Given the description of an element on the screen output the (x, y) to click on. 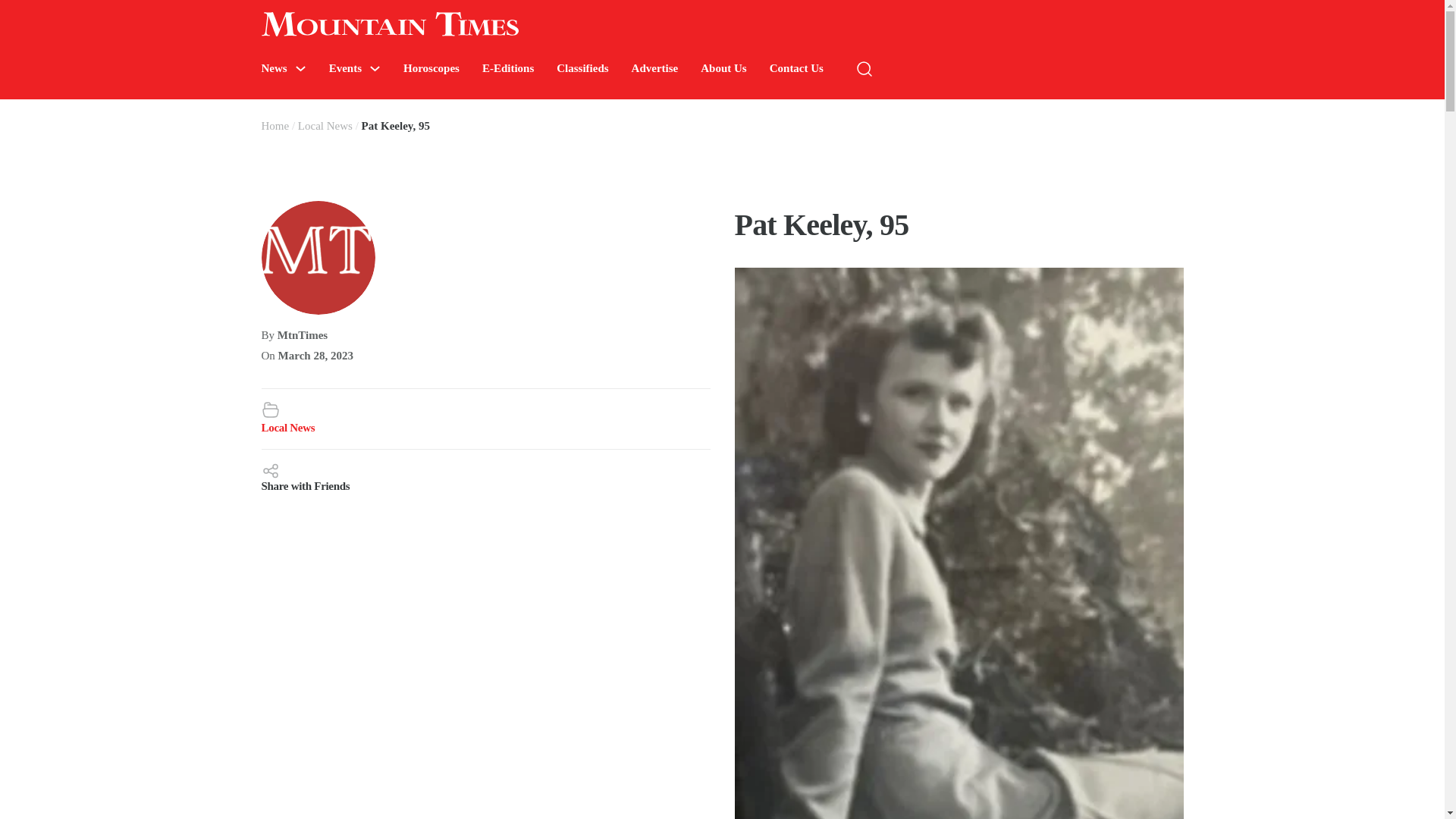
Home (274, 125)
Local News (287, 427)
E-Editions (507, 67)
Classifieds (582, 67)
Share with Friends (485, 476)
Horoscopes (431, 67)
About Us (722, 67)
Contact Us (797, 67)
MtnTimes (302, 335)
News (273, 67)
